Given the description of an element on the screen output the (x, y) to click on. 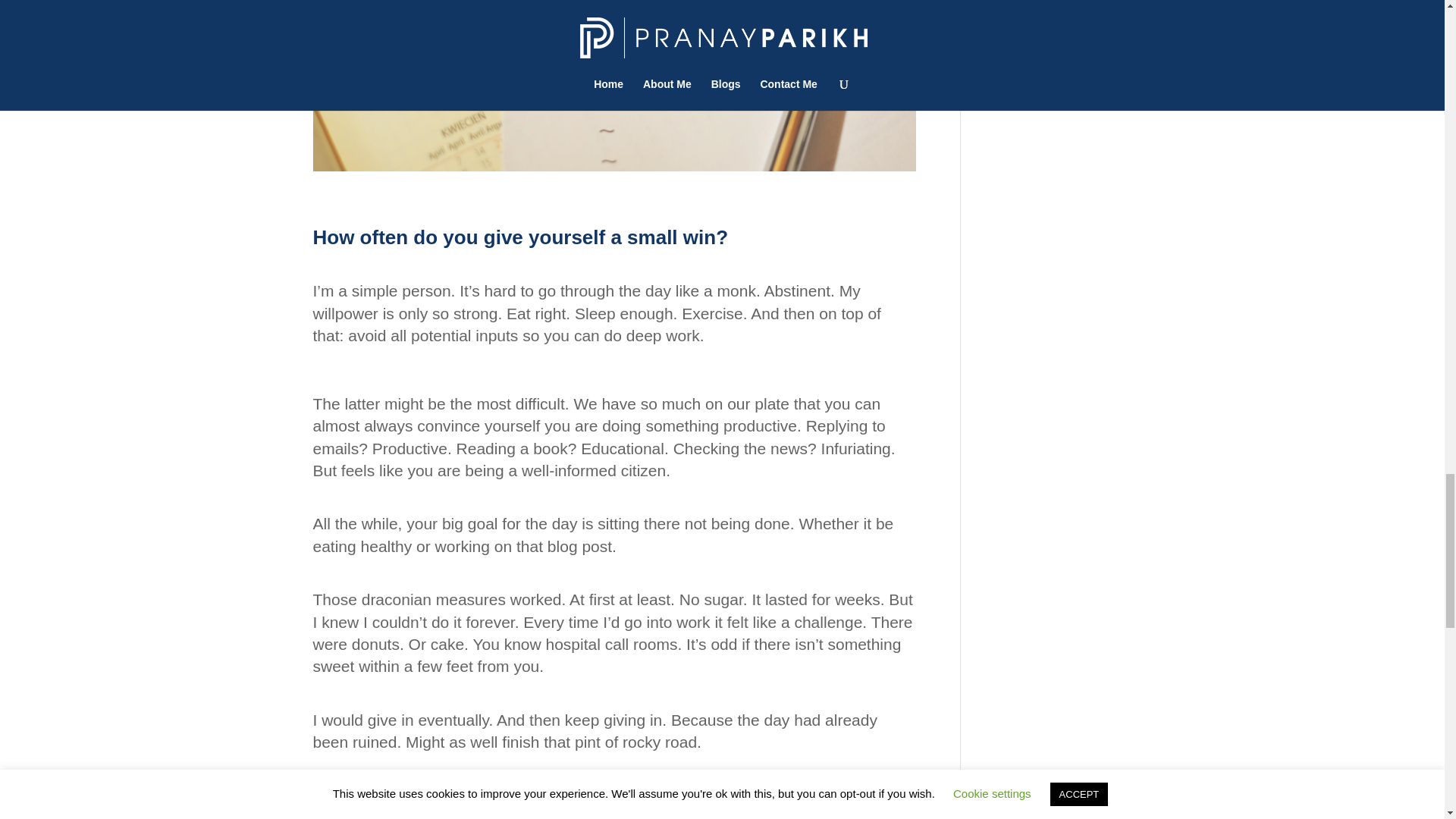
pen-calendar-to-do-checklist (614, 85)
